Given the description of an element on the screen output the (x, y) to click on. 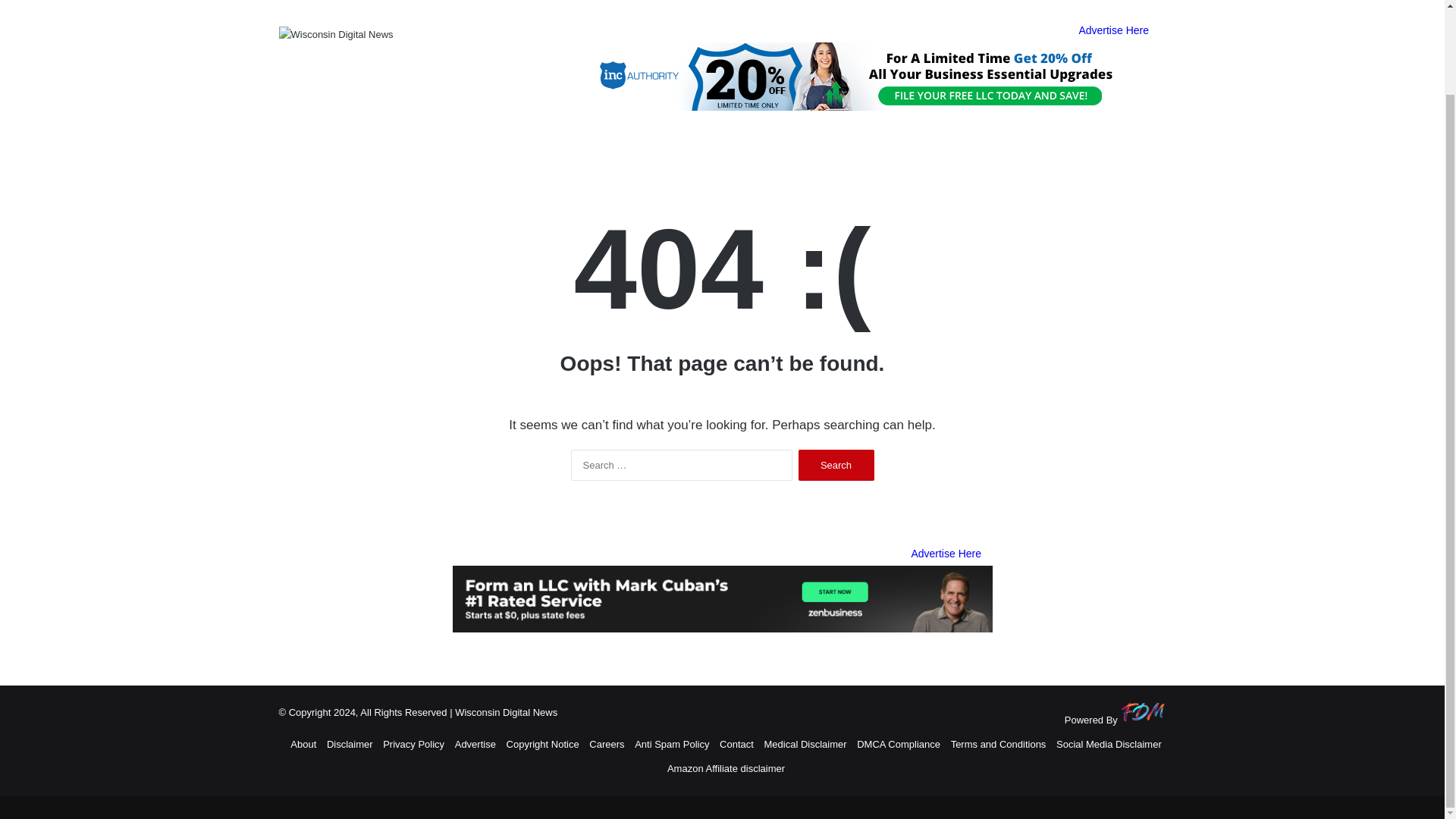
Wisconsin Digital News (336, 33)
Search (835, 464)
Search (835, 464)
